Given the description of an element on the screen output the (x, y) to click on. 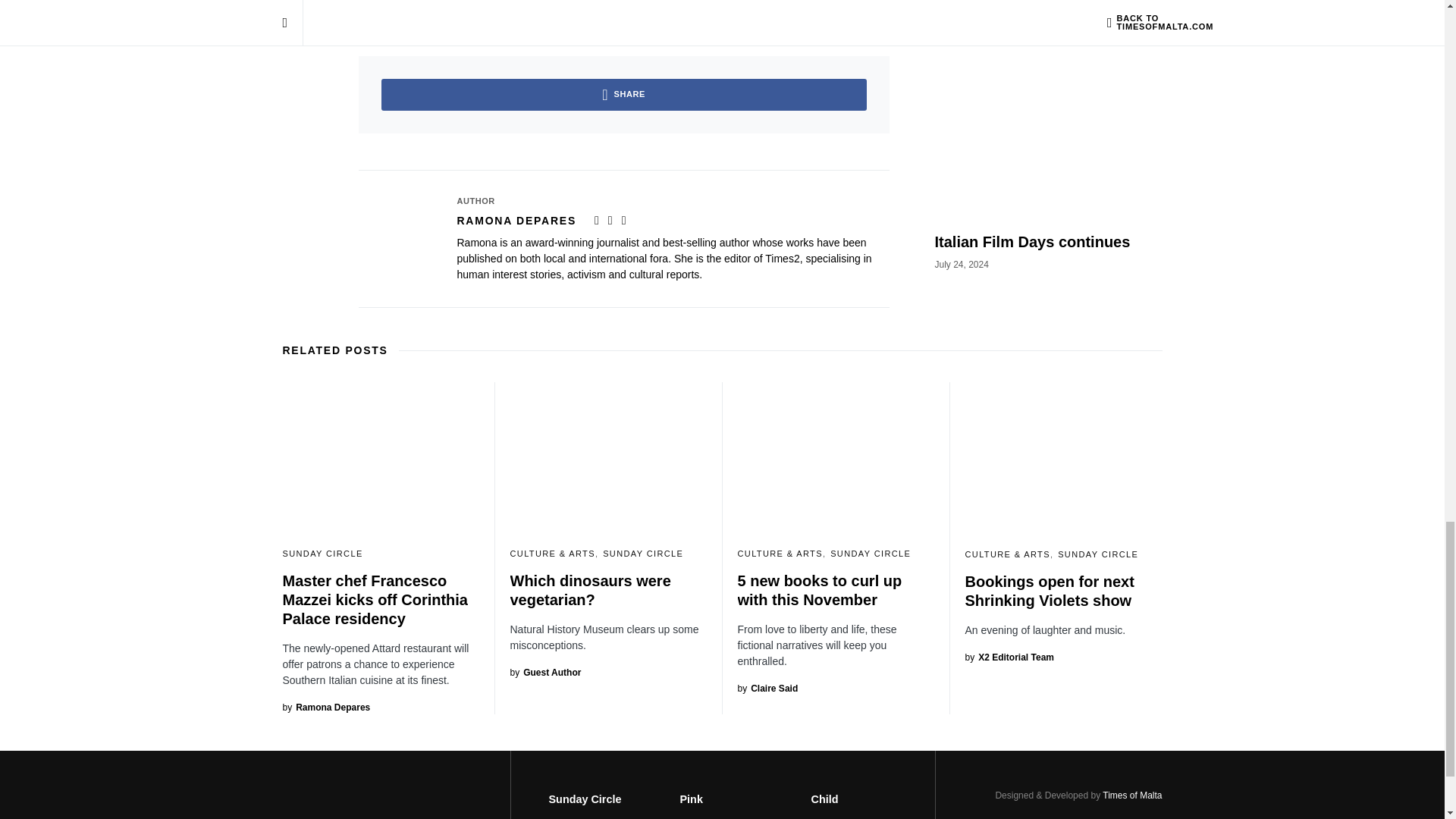
View all posts by Claire Said (766, 688)
View all posts by Guest Author (544, 672)
View all posts by X2 Editorial Team (1008, 657)
View all posts by Ramona Depares (325, 707)
